Given the description of an element on the screen output the (x, y) to click on. 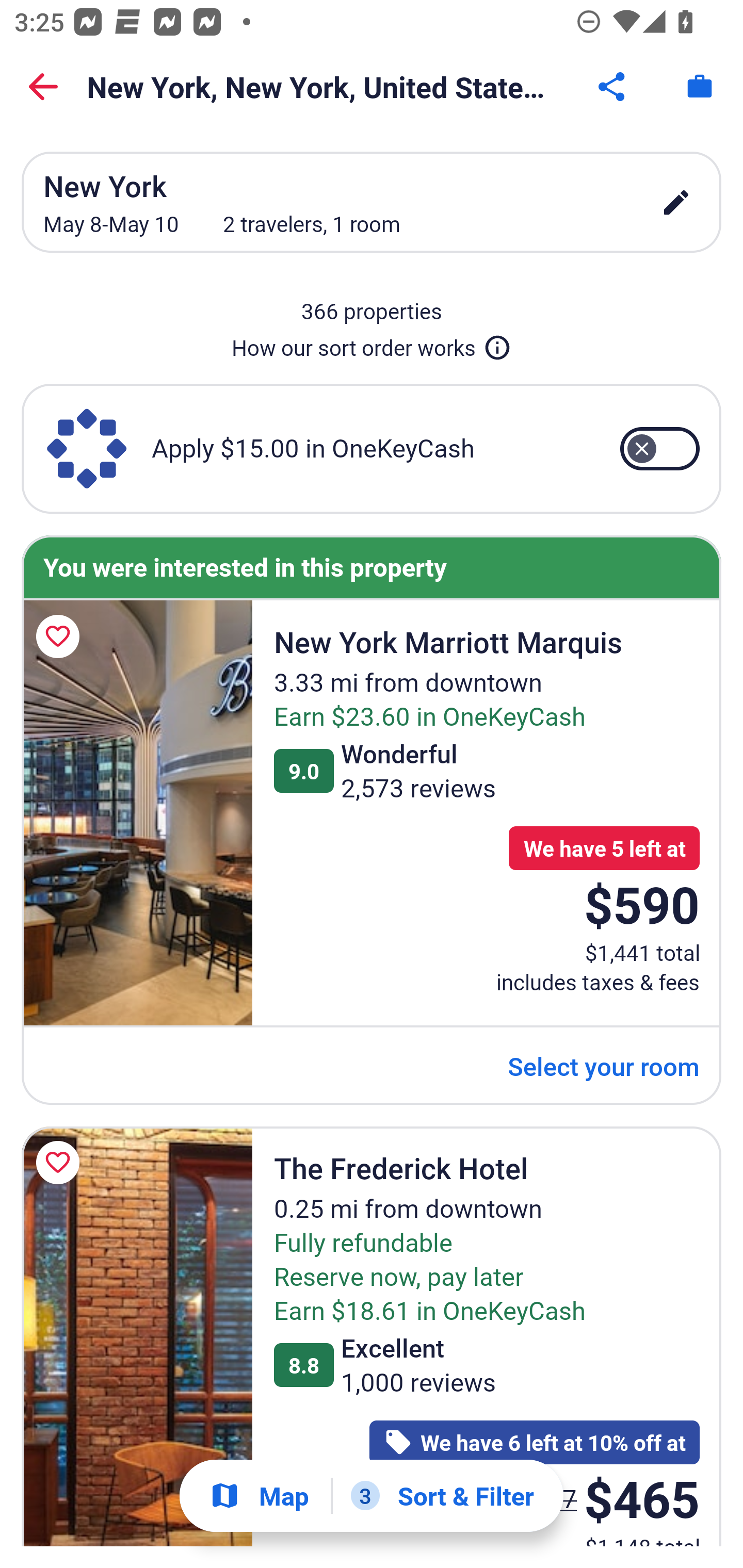
Back (43, 86)
Share Button (612, 86)
Trips. Button (699, 86)
New York May 8-May 10 2 travelers, 1 room edit (371, 202)
How our sort order works (371, 344)
Save New York Marriott Marquis to a trip (61, 636)
New York Marriott Marquis (136, 812)
Select your room Select your room Link (603, 1066)
Save The Frederick Hotel to a trip (61, 1162)
The Frederick Hotel (136, 1335)
3 Sort & Filter 3 Filters applied. Filters Button (442, 1495)
Show map Map Show map Button (258, 1495)
